Given the description of an element on the screen output the (x, y) to click on. 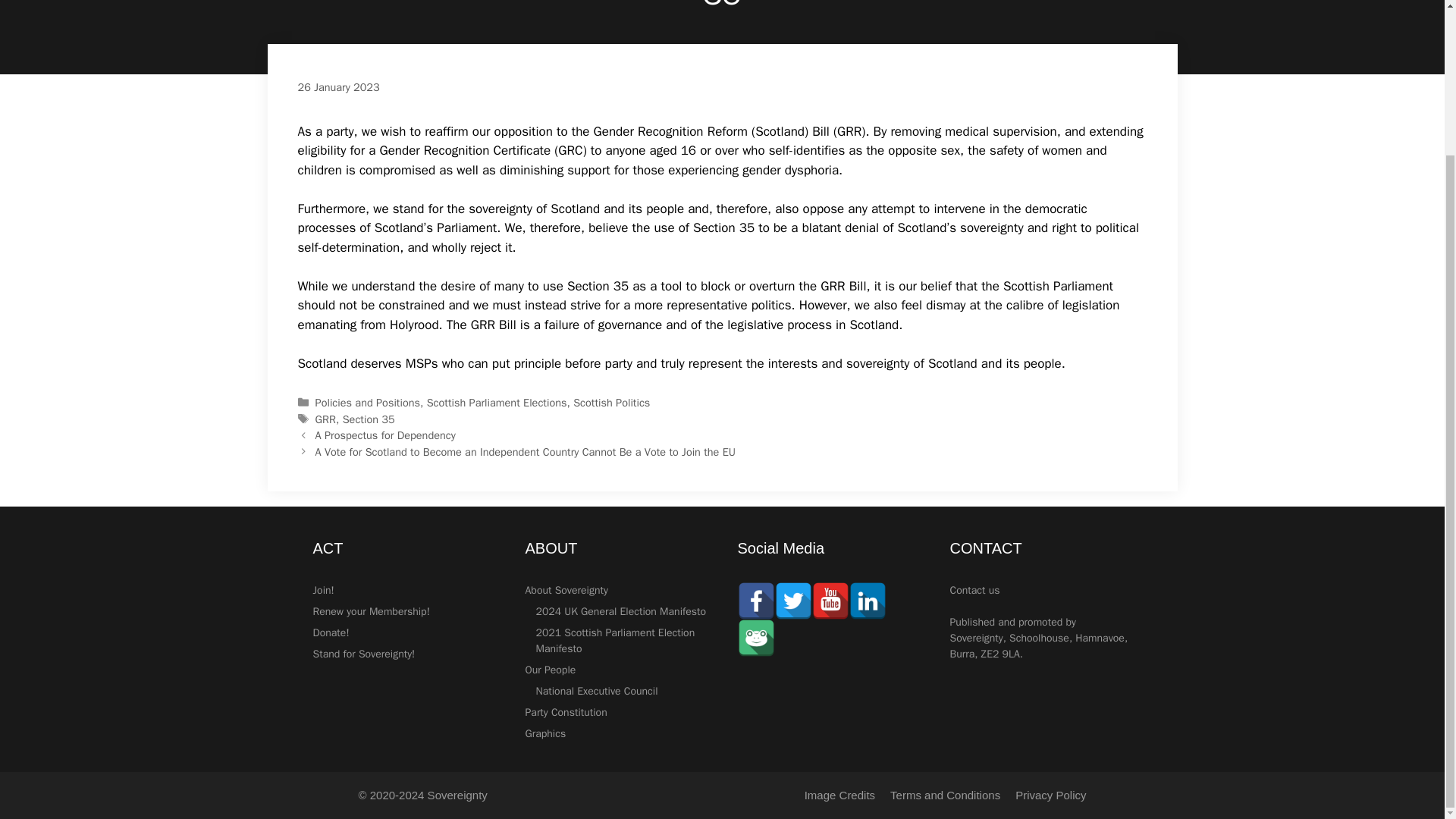
A Prospectus for Dependency (385, 435)
Previous (385, 435)
Policies and Positions (367, 402)
Image Credits (840, 794)
Stand for Sovereignty! (363, 653)
Renew your Membership! (371, 611)
Party Constitution (565, 712)
Contact us (973, 590)
2021 Scottish Parliament Election Manifesto (614, 640)
Scottish Politics (611, 402)
Next (525, 451)
Scottish Parliament Elections (496, 402)
Graphics (545, 733)
Join! (323, 590)
